Given the description of an element on the screen output the (x, y) to click on. 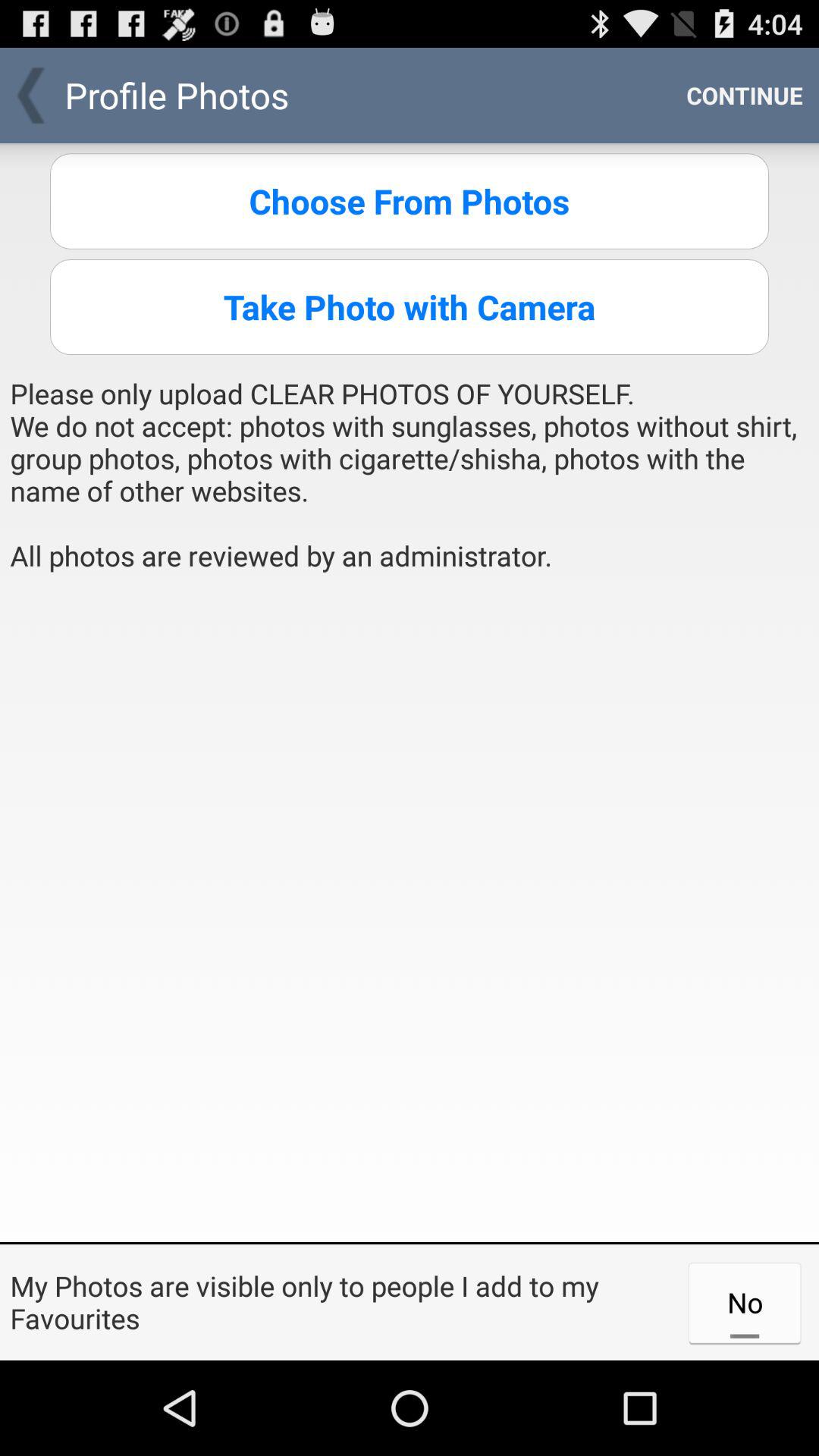
press no icon (744, 1302)
